Given the description of an element on the screen output the (x, y) to click on. 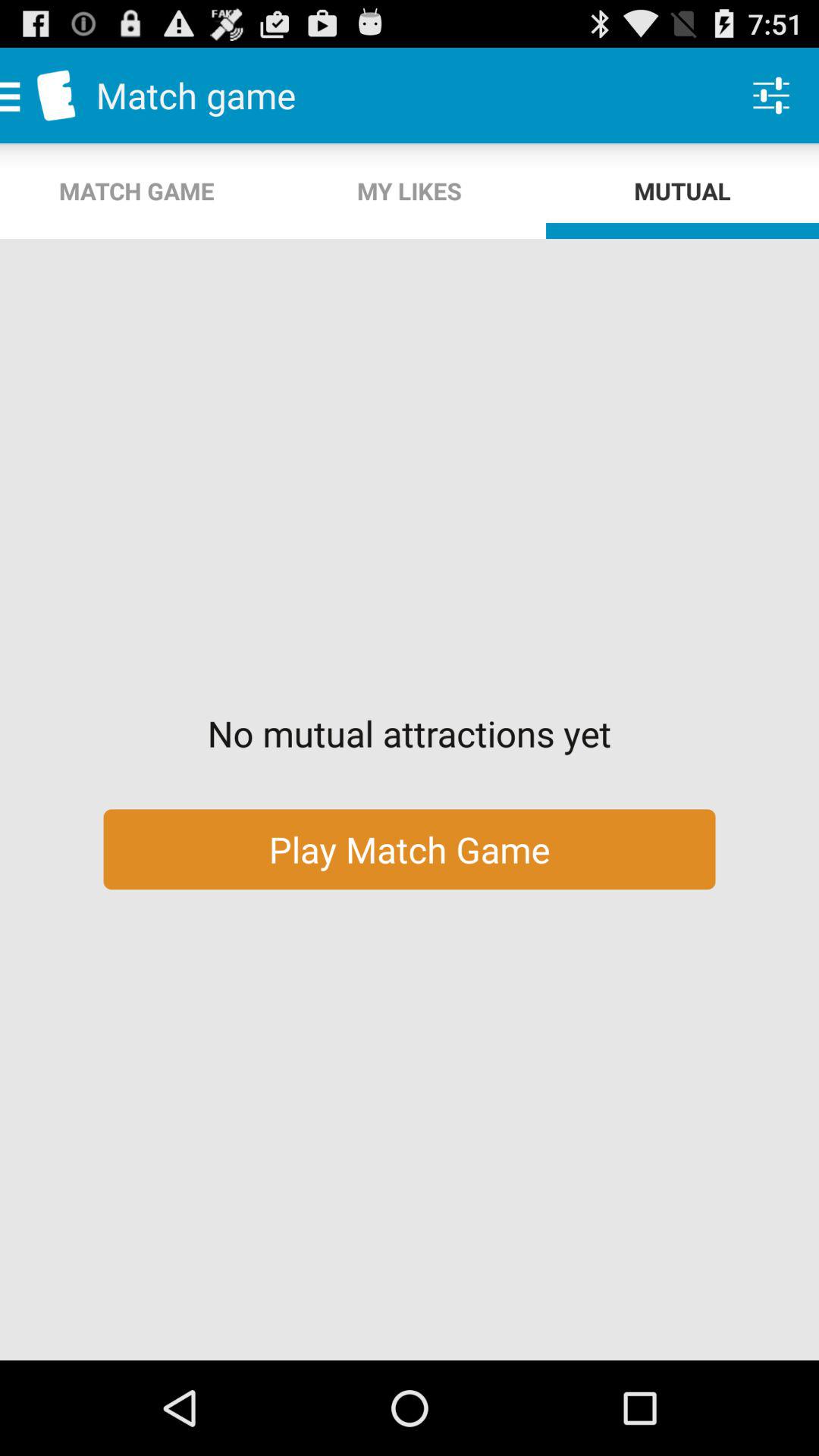
click app next to the mutual app (409, 190)
